Given the description of an element on the screen output the (x, y) to click on. 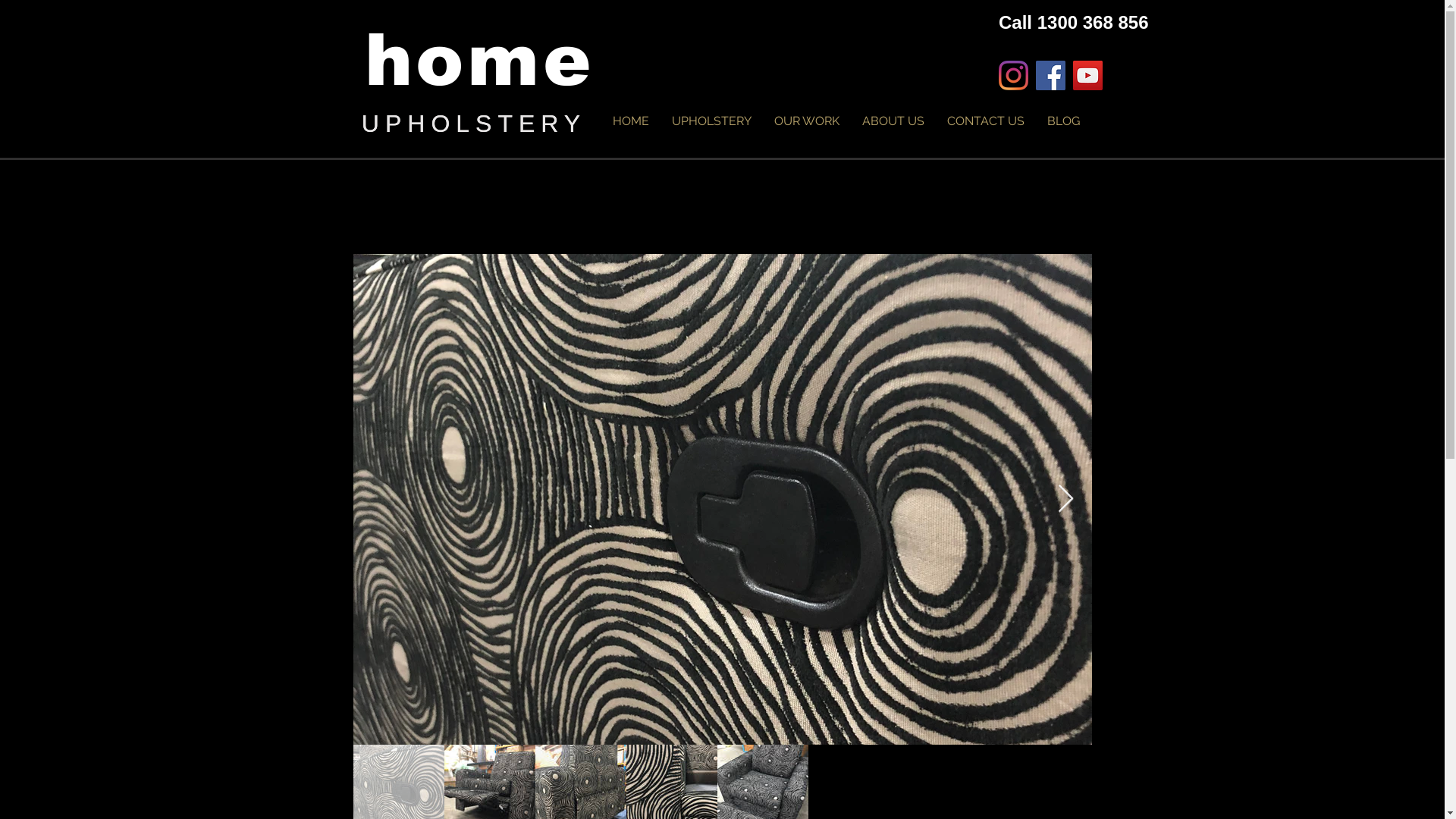
HOME Element type: text (629, 120)
BLOG Element type: text (1063, 120)
UPHOLSTERY Element type: text (473, 123)
home Element type: text (478, 61)
Call 1300 368 856 Element type: text (1073, 22)
ABOUT US Element type: text (892, 120)
CONTACT US Element type: text (985, 120)
OUR WORK Element type: text (806, 120)
